Given the description of an element on the screen output the (x, y) to click on. 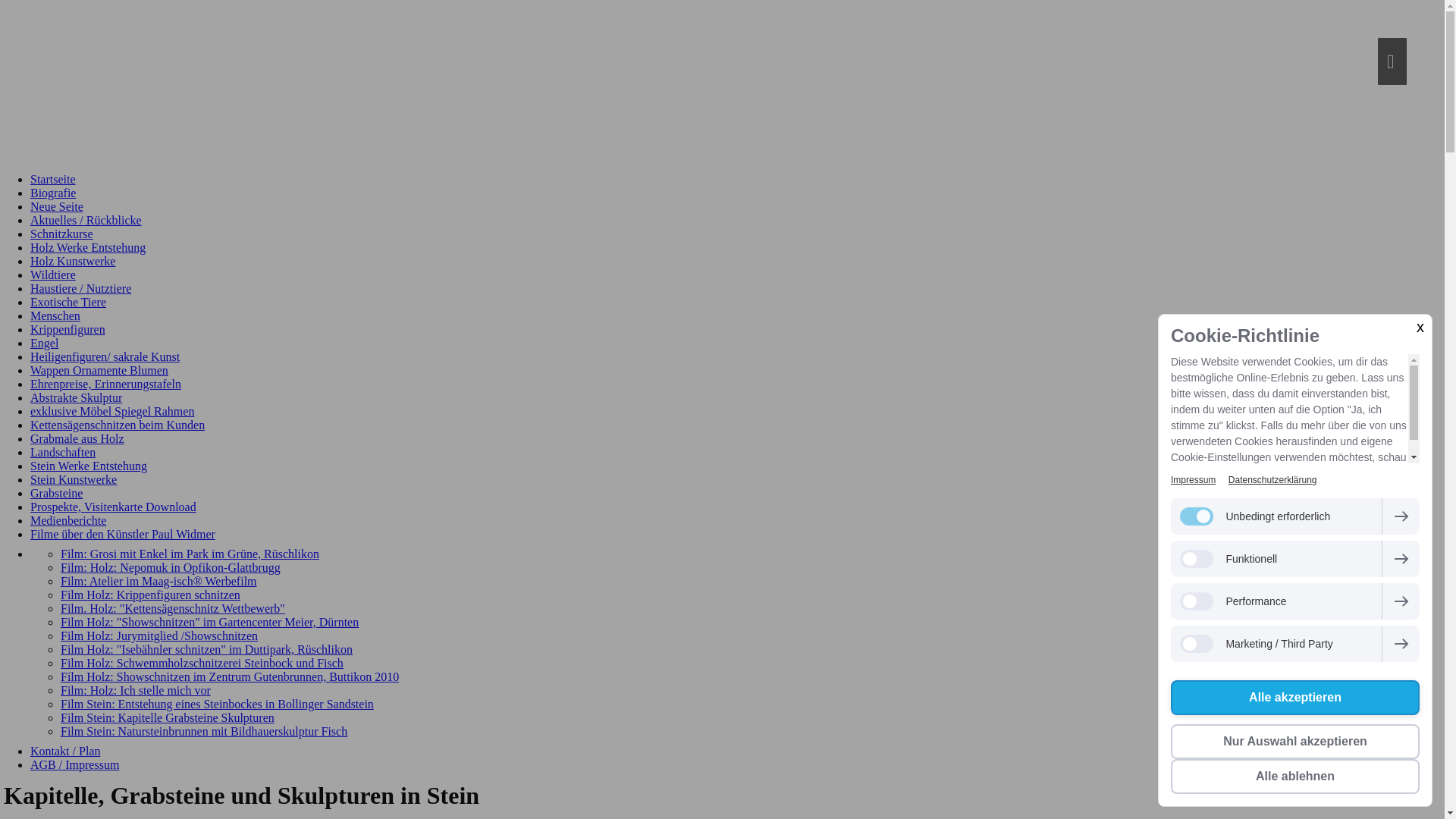
Heiligenfiguren/ sakrale Kunst Element type: text (104, 356)
Stein Werke Entstehung Element type: text (88, 465)
Alle akzeptieren Element type: text (1294, 697)
Grabmale aus Holz Element type: text (77, 438)
Wildtiere Element type: text (52, 274)
Film Stein: Natursteinbrunnen mit Bildhauerskulptur Fisch Element type: text (203, 730)
Prospekte, Visitenkarte Download Element type: text (113, 506)
Film: Holz: Ich stelle mich vor Element type: text (135, 690)
Film Stein: Kapitelle Grabsteine Skulpturen Element type: text (167, 717)
Schnitzkurse Element type: text (61, 233)
Landschaften Element type: text (62, 451)
Abstrakte Skulptur Element type: text (76, 397)
Film: Holz: Nepomuk in Opfikon-Glattbrugg Element type: text (170, 567)
Alle ablehnen Element type: text (1294, 776)
Exotische Tiere Element type: text (68, 301)
Startseite Element type: text (52, 178)
Holz Kunstwerke Element type: text (72, 260)
Ehrenpreise, Erinnerungstafeln Element type: text (105, 383)
Haustiere / Nutztiere Element type: text (80, 288)
Menschen Element type: text (55, 315)
AGB / Impressum Element type: text (74, 764)
Wappen Ornamente Blumen Element type: text (99, 370)
Engel Element type: text (44, 342)
Film Holz: Schwemmholzschnitzerei Steinbock und Fisch Element type: text (201, 662)
Biografie Element type: text (52, 192)
Film Holz: Krippenfiguren schnitzen Element type: text (150, 594)
Impressum Element type: text (1192, 479)
Medienberichte Element type: text (68, 520)
Krippenfiguren Element type: text (67, 329)
Nur Auswahl akzeptieren Element type: text (1294, 741)
Neue Seite Element type: text (56, 206)
Grabsteine Element type: text (56, 492)
Film Holz: Jurymitglied /Showschnitzen Element type: text (158, 635)
Stein Kunstwerke Element type: text (73, 479)
Kontakt / Plan Element type: text (65, 750)
Holz Werke Entstehung Element type: text (87, 247)
